Given the description of an element on the screen output the (x, y) to click on. 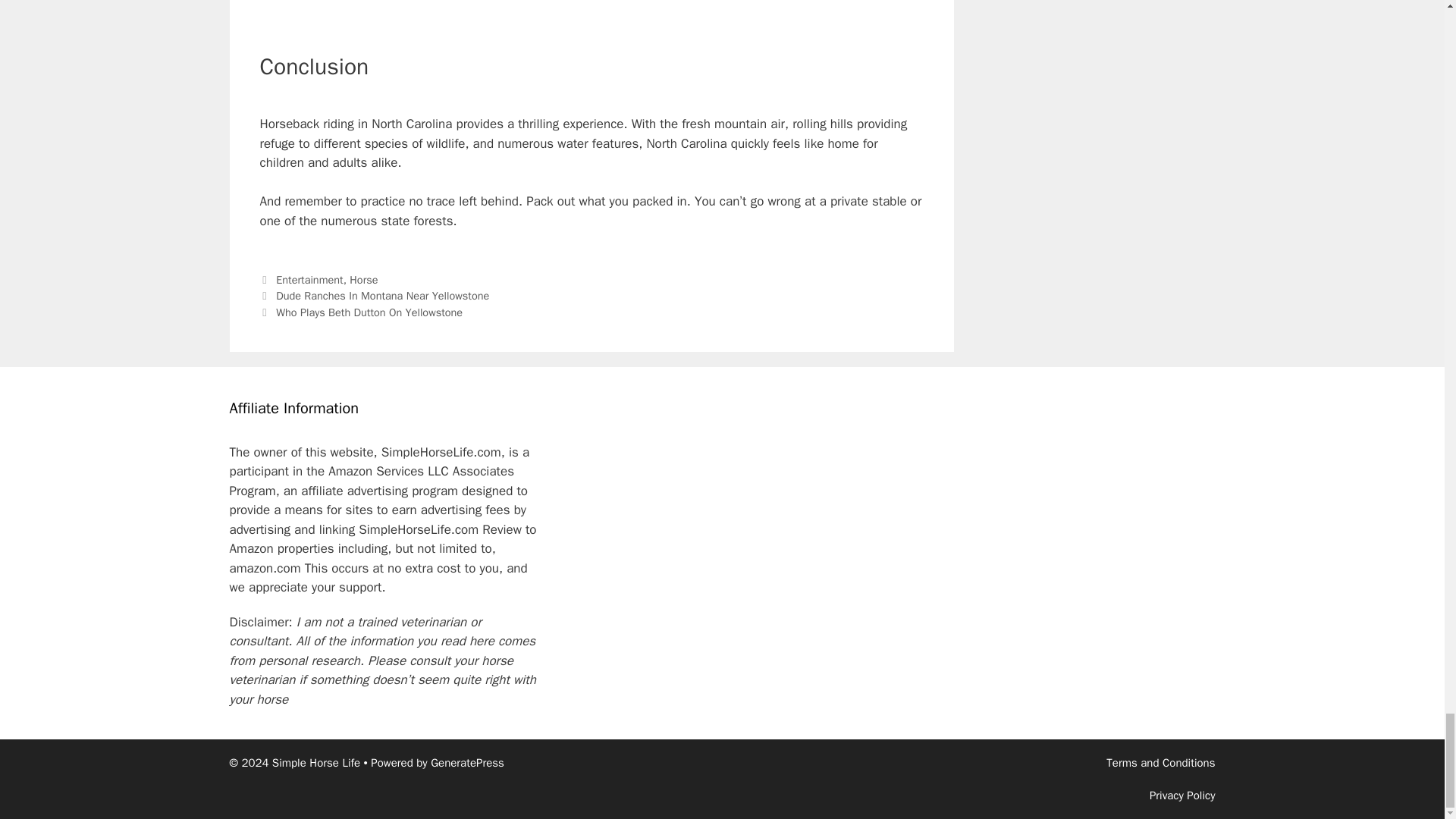
GeneratePress (466, 762)
Next (362, 312)
Dude Ranches In Montana Near Yellowstone (382, 295)
Entertainment (309, 279)
Who Plays Beth Dutton On Yellowstone  (370, 312)
Privacy Policy (1182, 795)
Horse (363, 279)
Previous (374, 295)
Terms and Conditions (1160, 762)
